Given the description of an element on the screen output the (x, y) to click on. 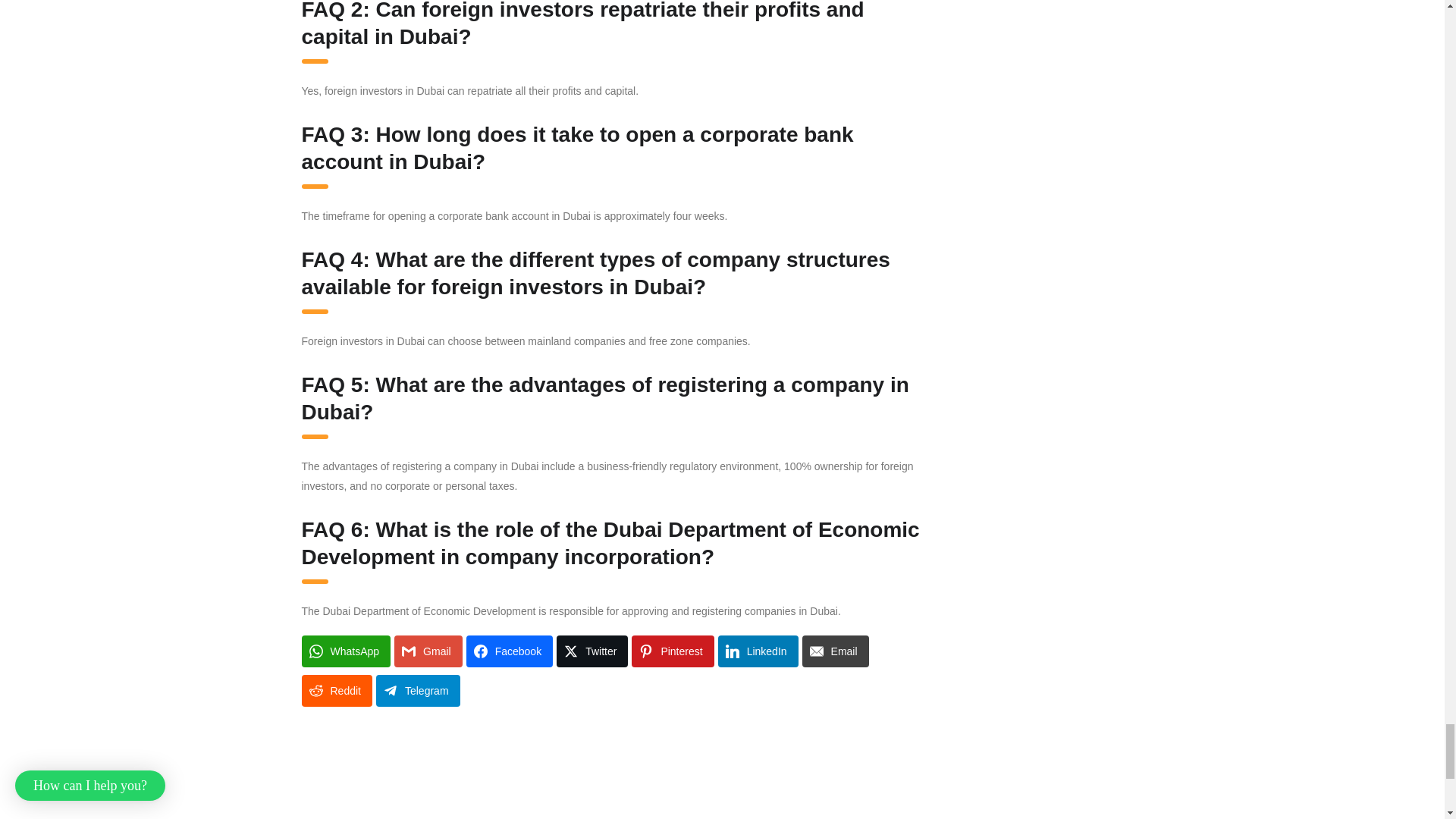
Telegram (417, 690)
Pinterest (672, 651)
Share on Facebook (509, 651)
Share on Twitter (591, 651)
Share on Email (835, 651)
Facebook (509, 651)
WhatsApp (346, 651)
Share on WhatsApp (346, 651)
Gmail (428, 651)
Share on Reddit (336, 690)
